Given the description of an element on the screen output the (x, y) to click on. 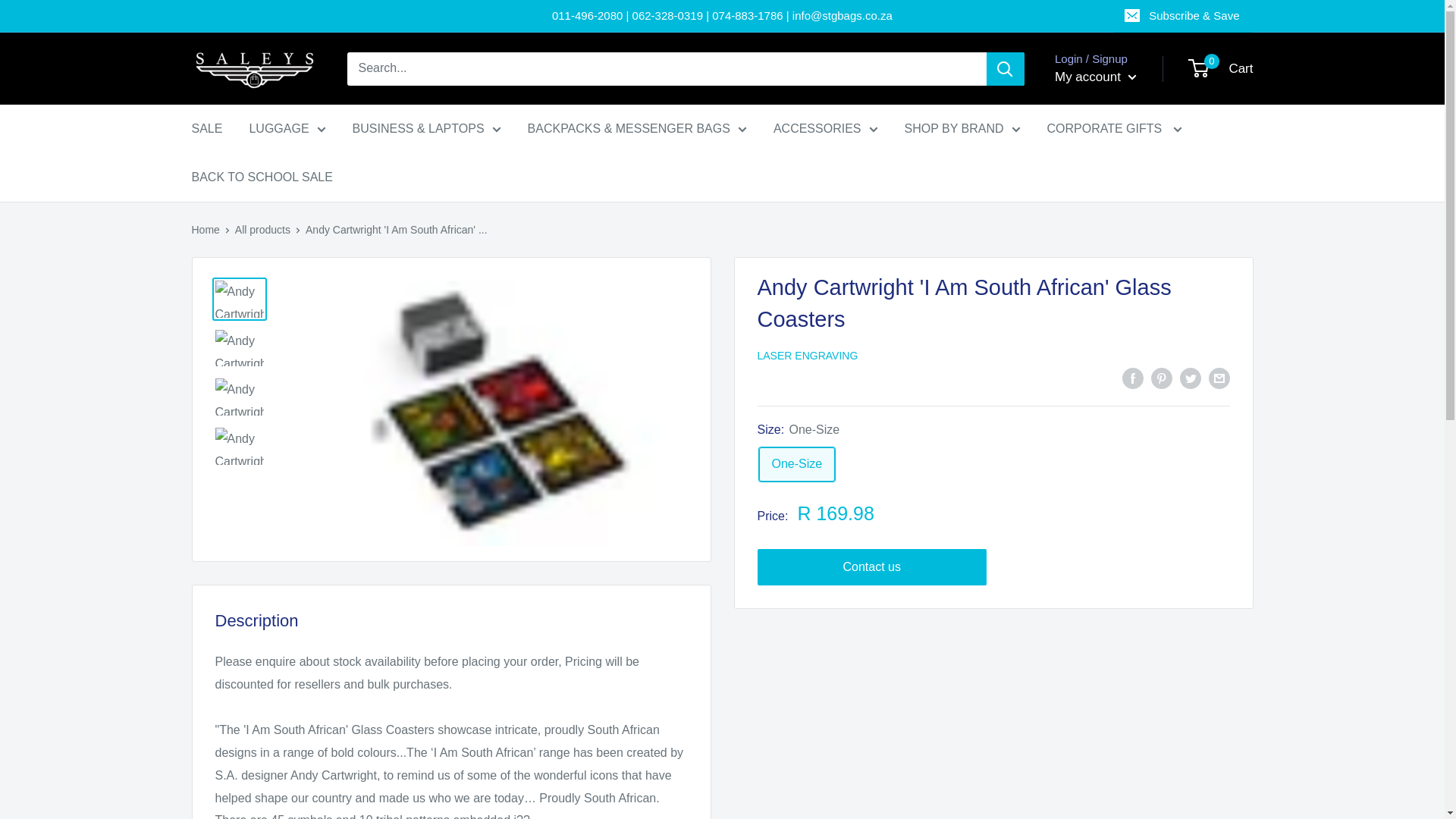
One-Size (796, 464)
